Given the description of an element on the screen output the (x, y) to click on. 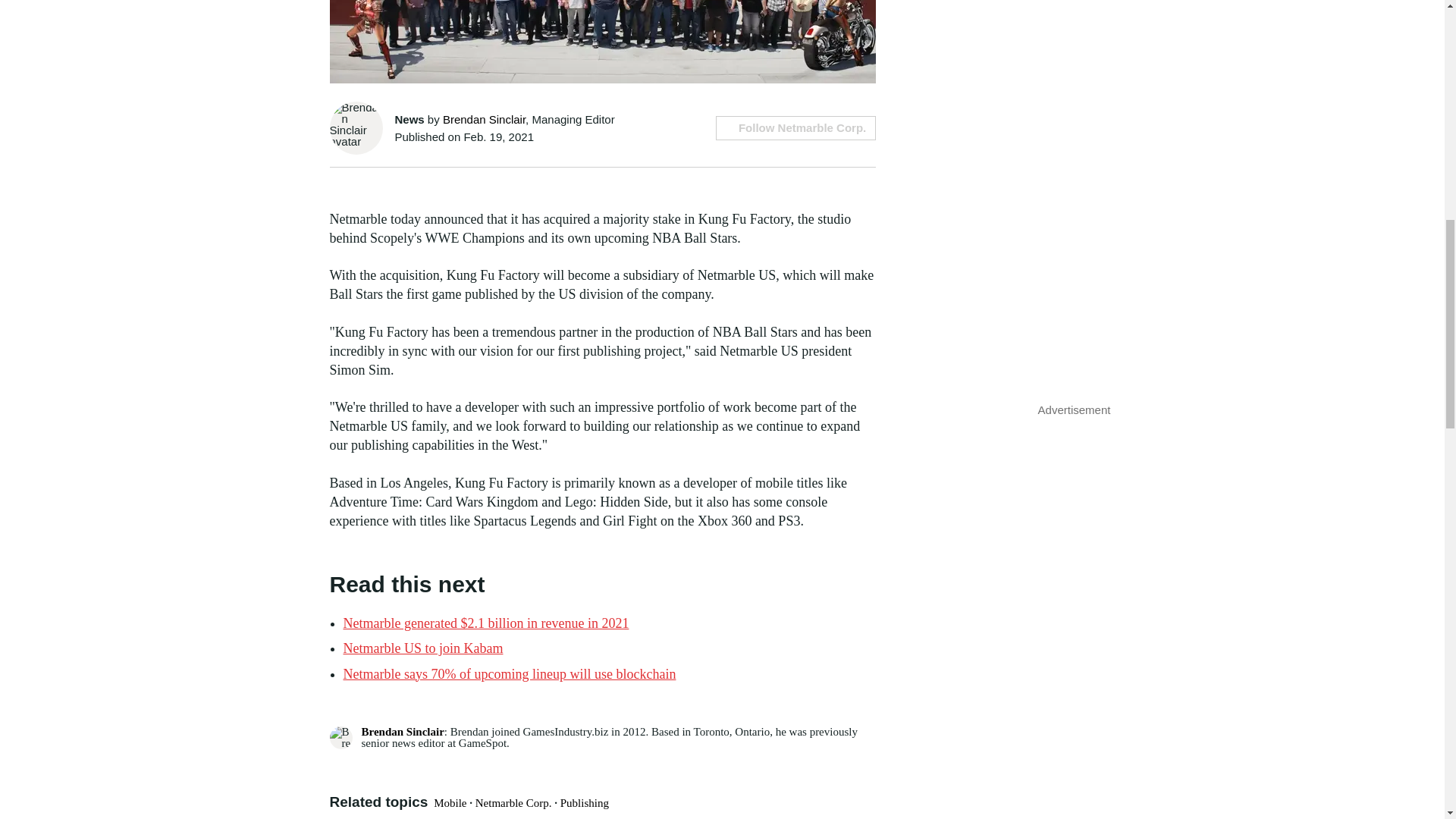
Brendan Sinclair (402, 731)
Publishing (584, 802)
Netmarble Corp. (513, 802)
Brendan Sinclair (483, 119)
Follow Netmarble Corp. (796, 128)
Follow Netmarble Corp. (796, 128)
Mobile (449, 802)
Netmarble US to join Kabam (422, 648)
